Given the description of an element on the screen output the (x, y) to click on. 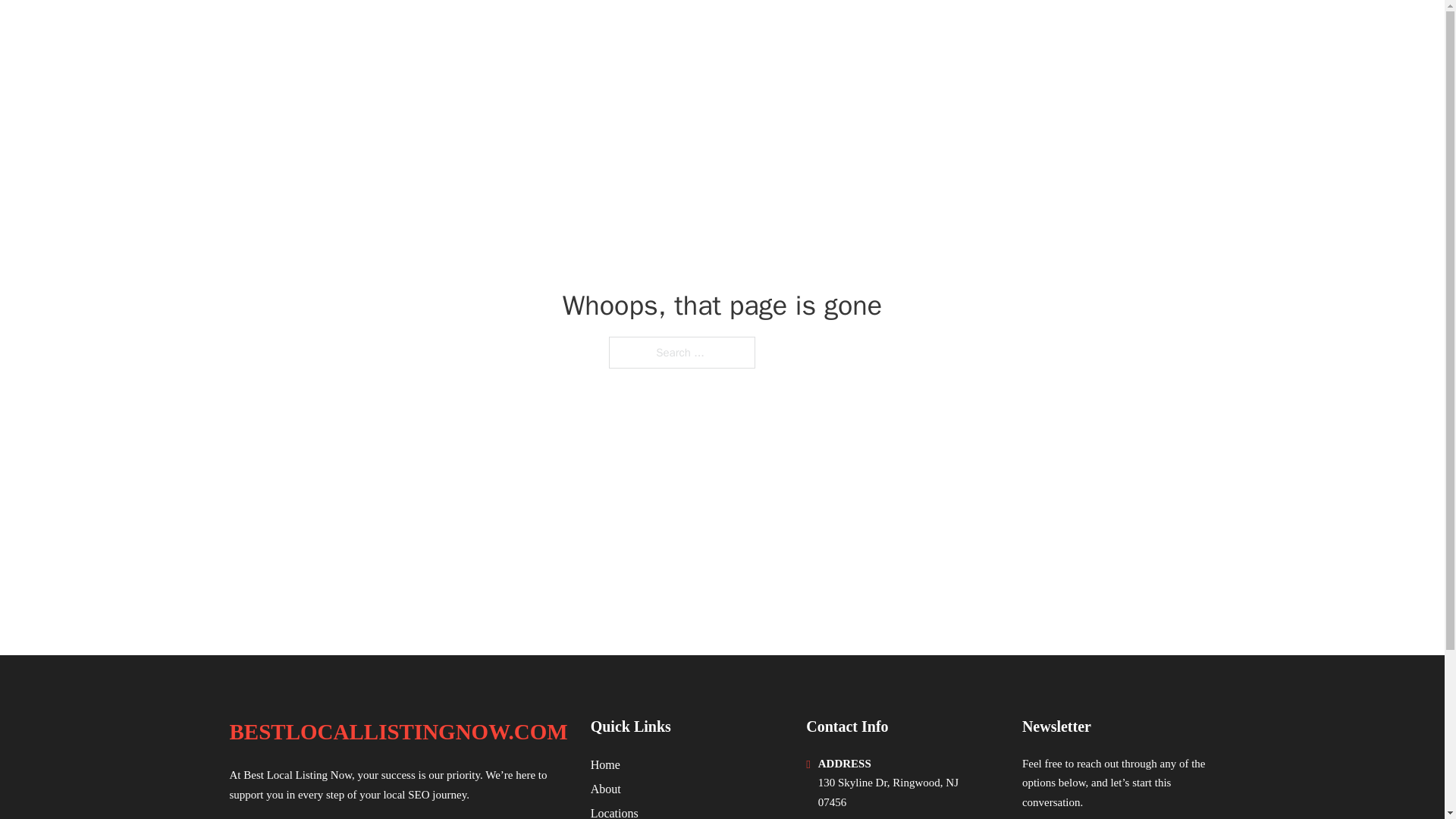
LOCATIONS (1075, 31)
BESTLOCALLISTINGNOW.COM (397, 732)
BESTLOCALLISTINGNOW.COM (415, 31)
About (606, 788)
Home (605, 764)
HOME (1002, 31)
Locations (615, 811)
